Given the description of an element on the screen output the (x, y) to click on. 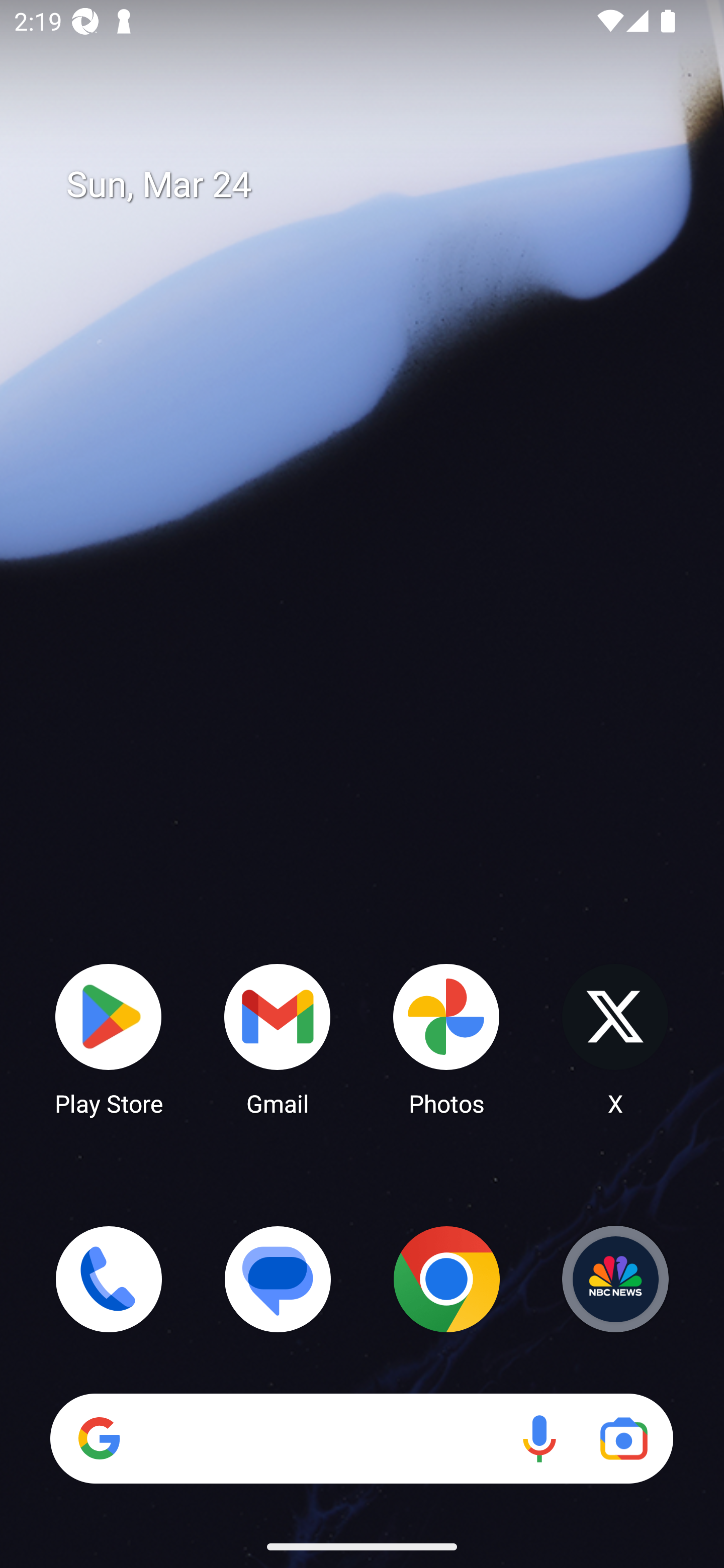
Sun, Mar 24 (375, 184)
Play Store (108, 1038)
Gmail (277, 1038)
Photos (445, 1038)
X (615, 1038)
Phone (108, 1279)
Messages (277, 1279)
Chrome (446, 1279)
NBC NEWS Predicted app: NBC NEWS (615, 1279)
Voice search (539, 1438)
Google Lens (623, 1438)
